Given the description of an element on the screen output the (x, y) to click on. 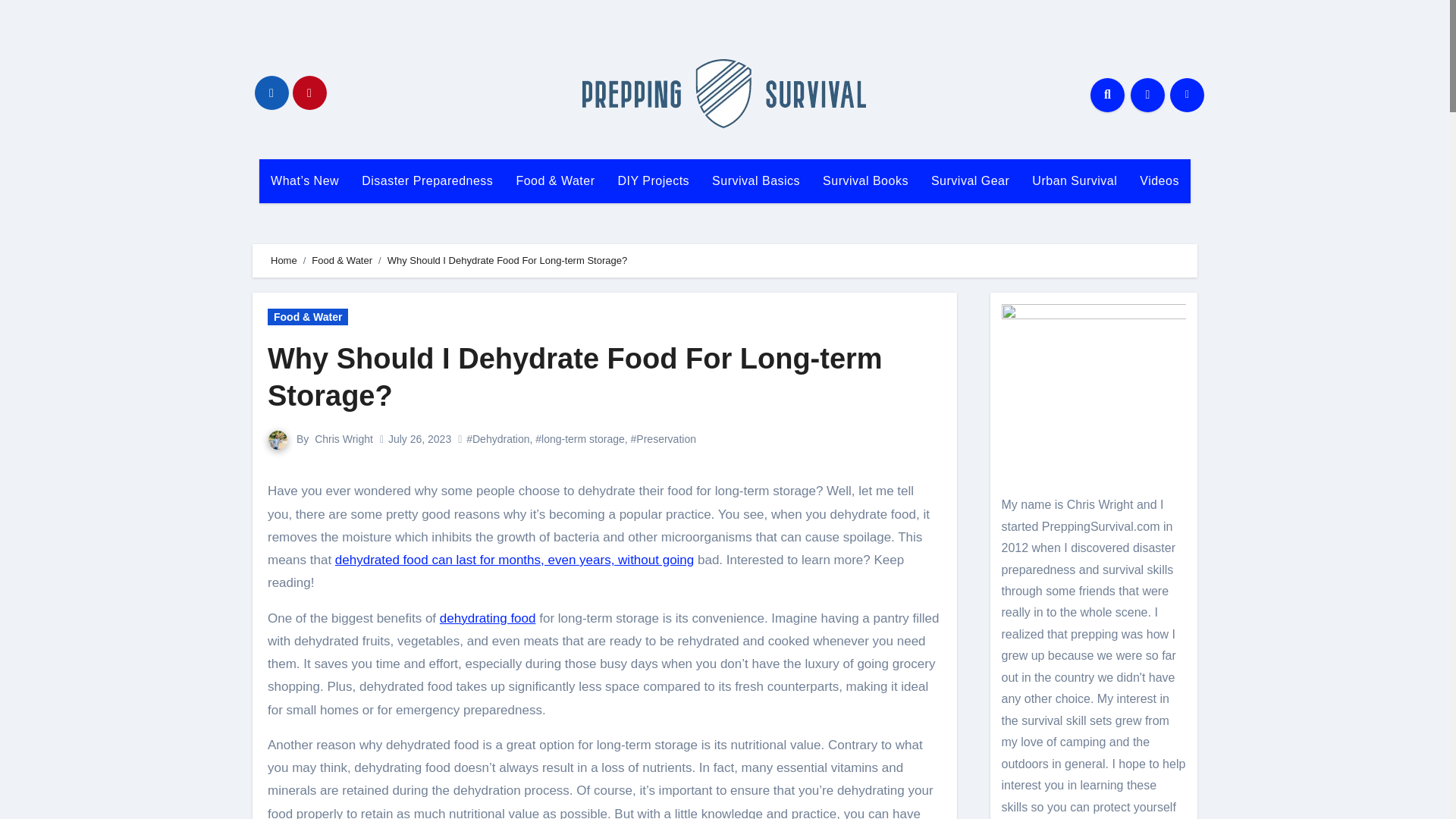
Survival Books (865, 180)
Videos (1159, 180)
Chris Wright (343, 439)
DIY Projects (652, 180)
Urban Survival (1074, 180)
What's New (304, 180)
July 26, 2023 (419, 439)
DIY Projects (652, 180)
Survival Gear (970, 180)
